Given the description of an element on the screen output the (x, y) to click on. 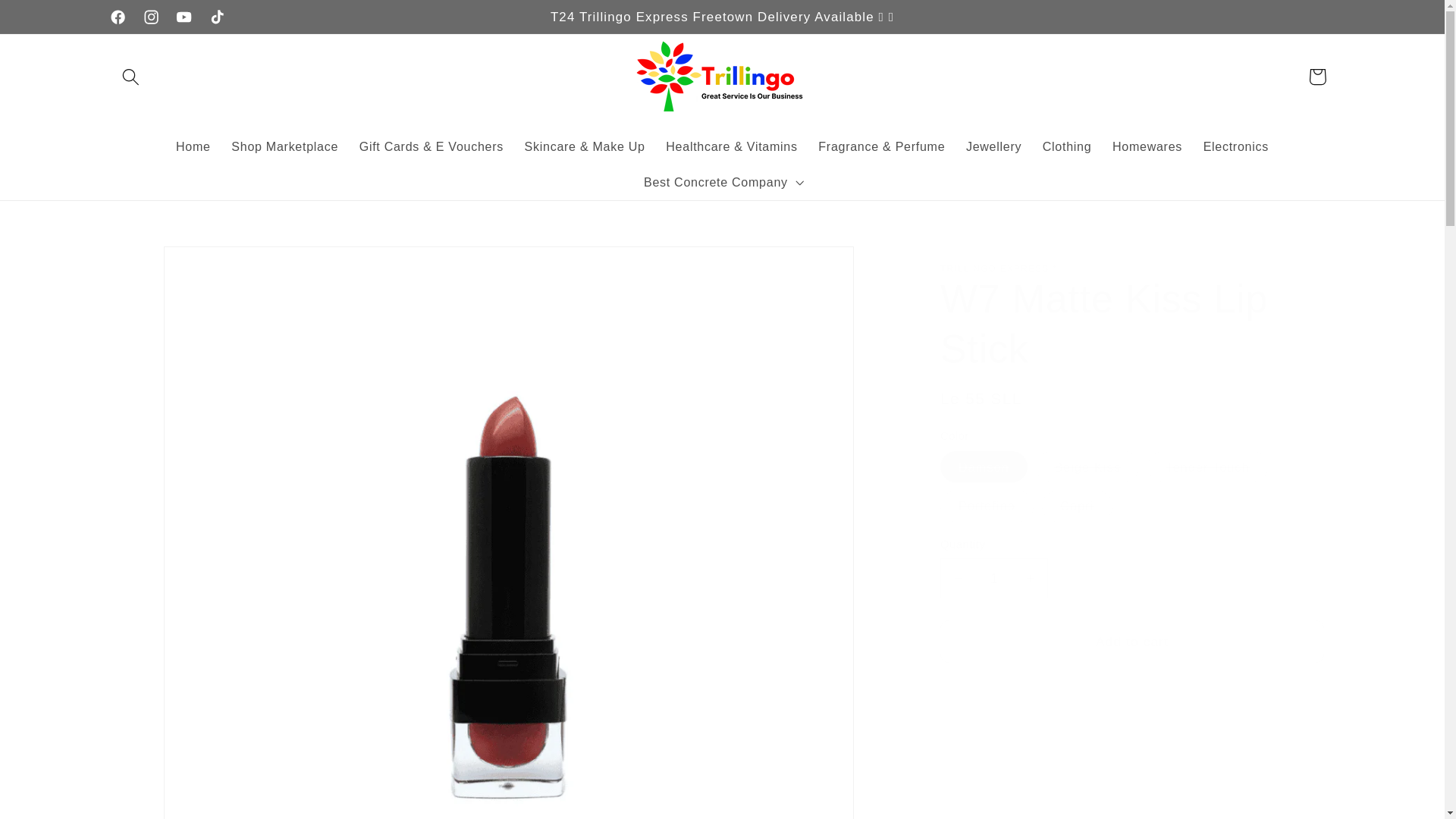
Home (193, 145)
Homewares (1147, 145)
YouTube (183, 16)
TikTok (217, 16)
Facebook (118, 16)
Instagram (150, 16)
1 (994, 577)
Shop Marketplace (285, 145)
Clothing (1067, 145)
